Given the description of an element on the screen output the (x, y) to click on. 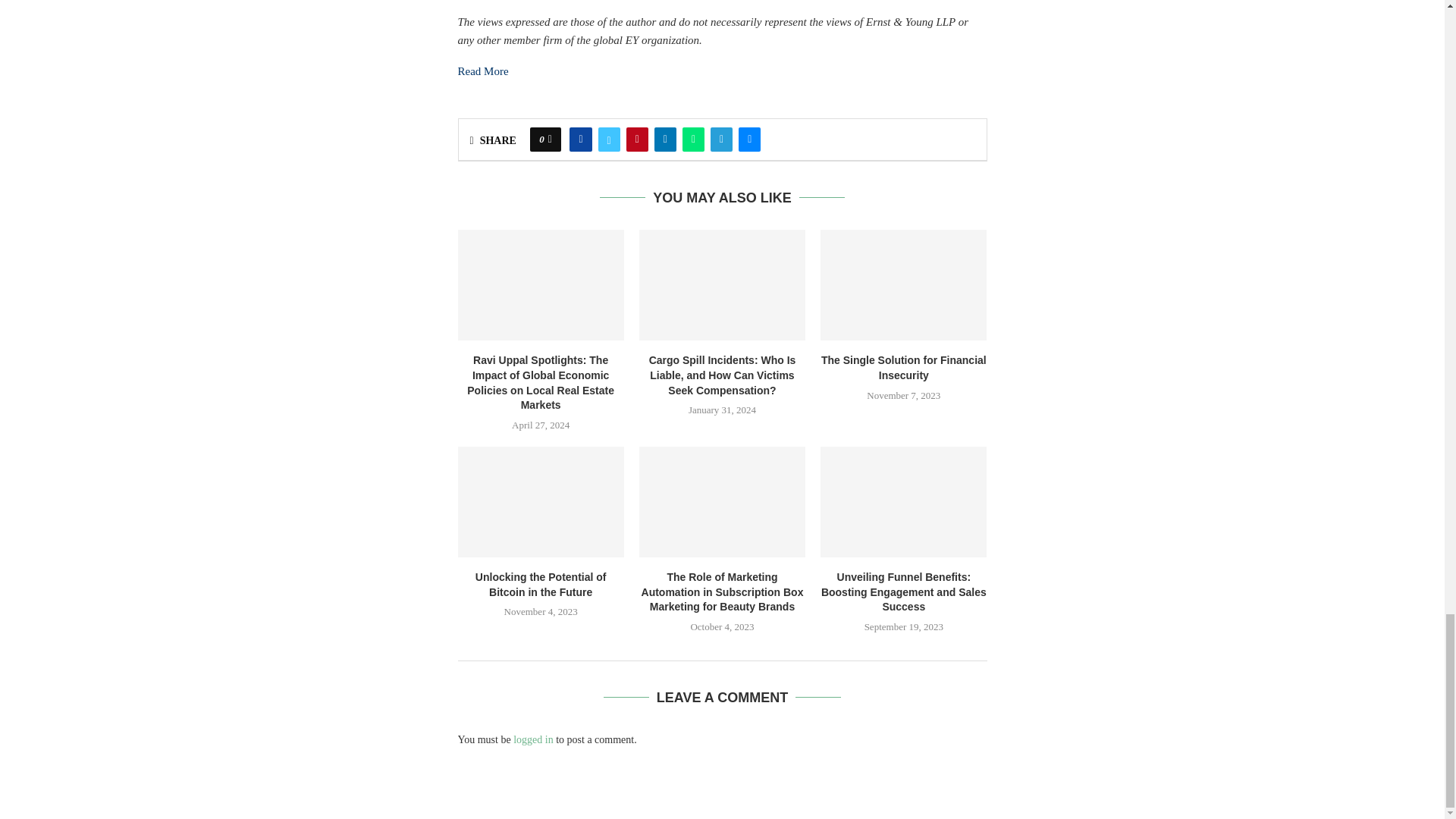
Unlocking the Potential of Bitcoin in the Future (541, 501)
The Single Solution for Financial Insecurity (904, 285)
